Given the description of an element on the screen output the (x, y) to click on. 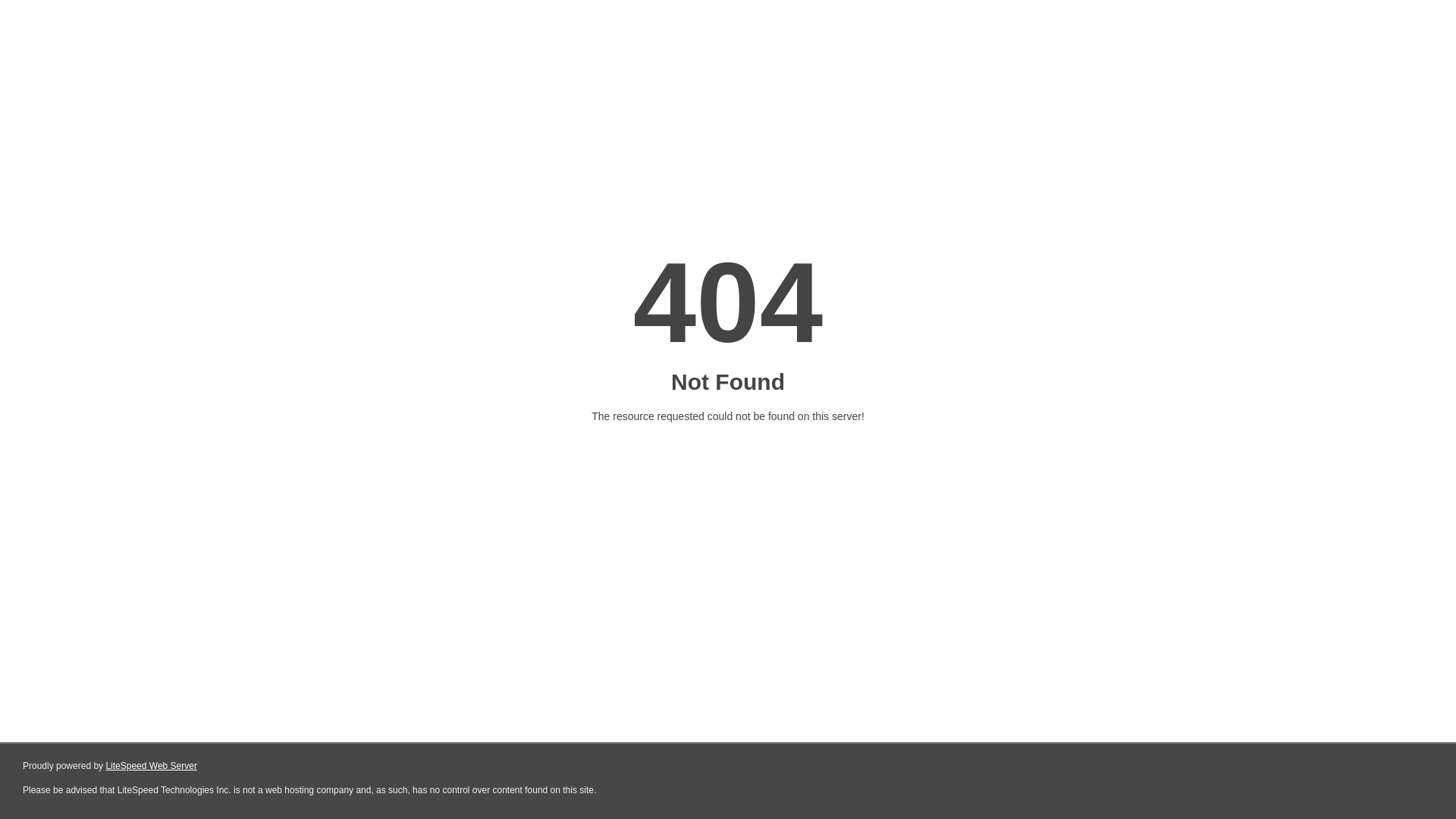
LiteSpeed Web Server Element type: text (151, 765)
